Given the description of an element on the screen output the (x, y) to click on. 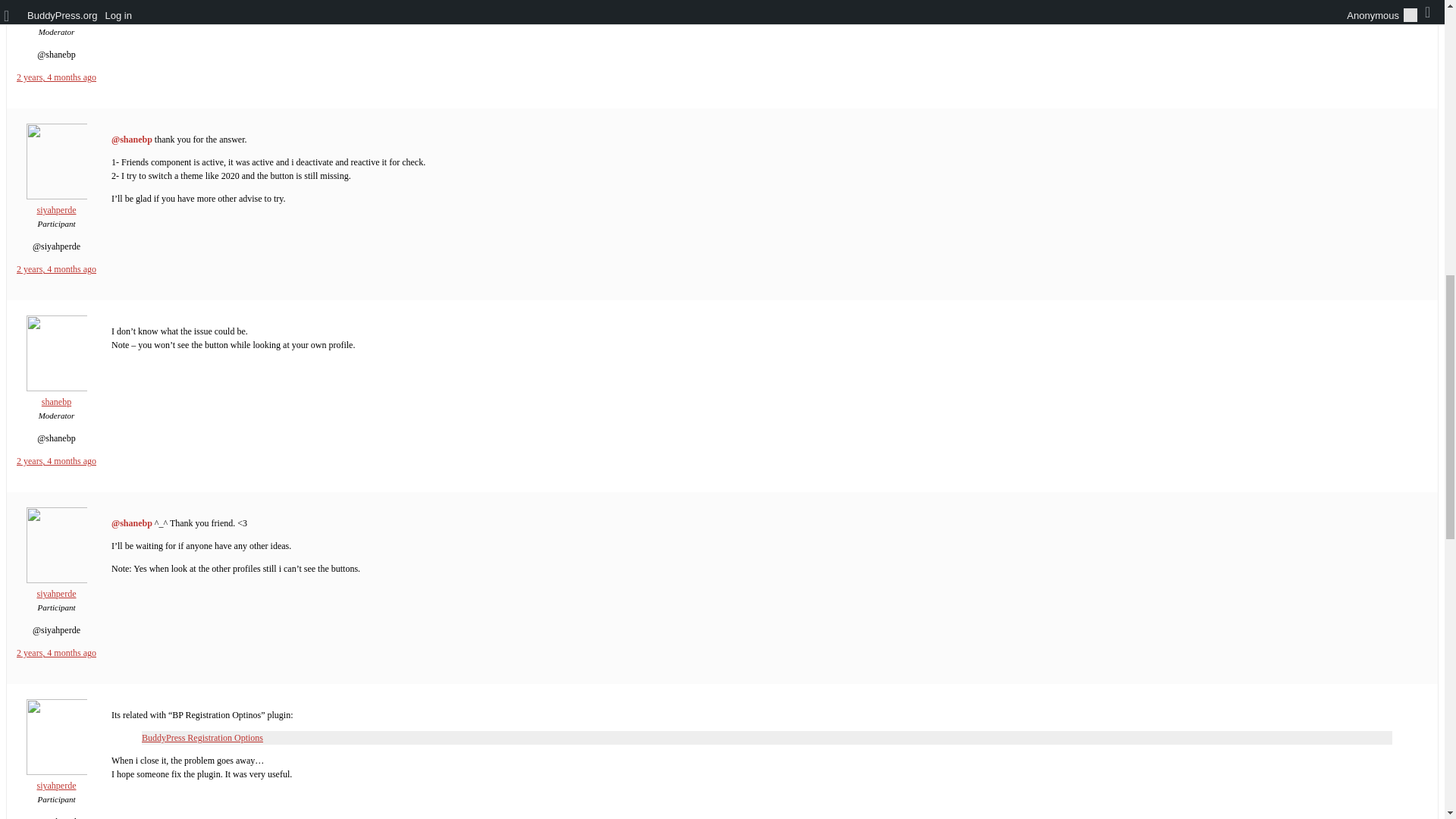
shanebp (56, 395)
siyahperde (56, 587)
2 years, 4 months ago (56, 77)
siyahperde (56, 779)
siyahperde (56, 203)
2 years, 4 months ago (56, 268)
2 years, 4 months ago (56, 652)
BuddyPress Registration Options (202, 737)
shanebp (56, 12)
2 years, 4 months ago (56, 460)
